Given the description of an element on the screen output the (x, y) to click on. 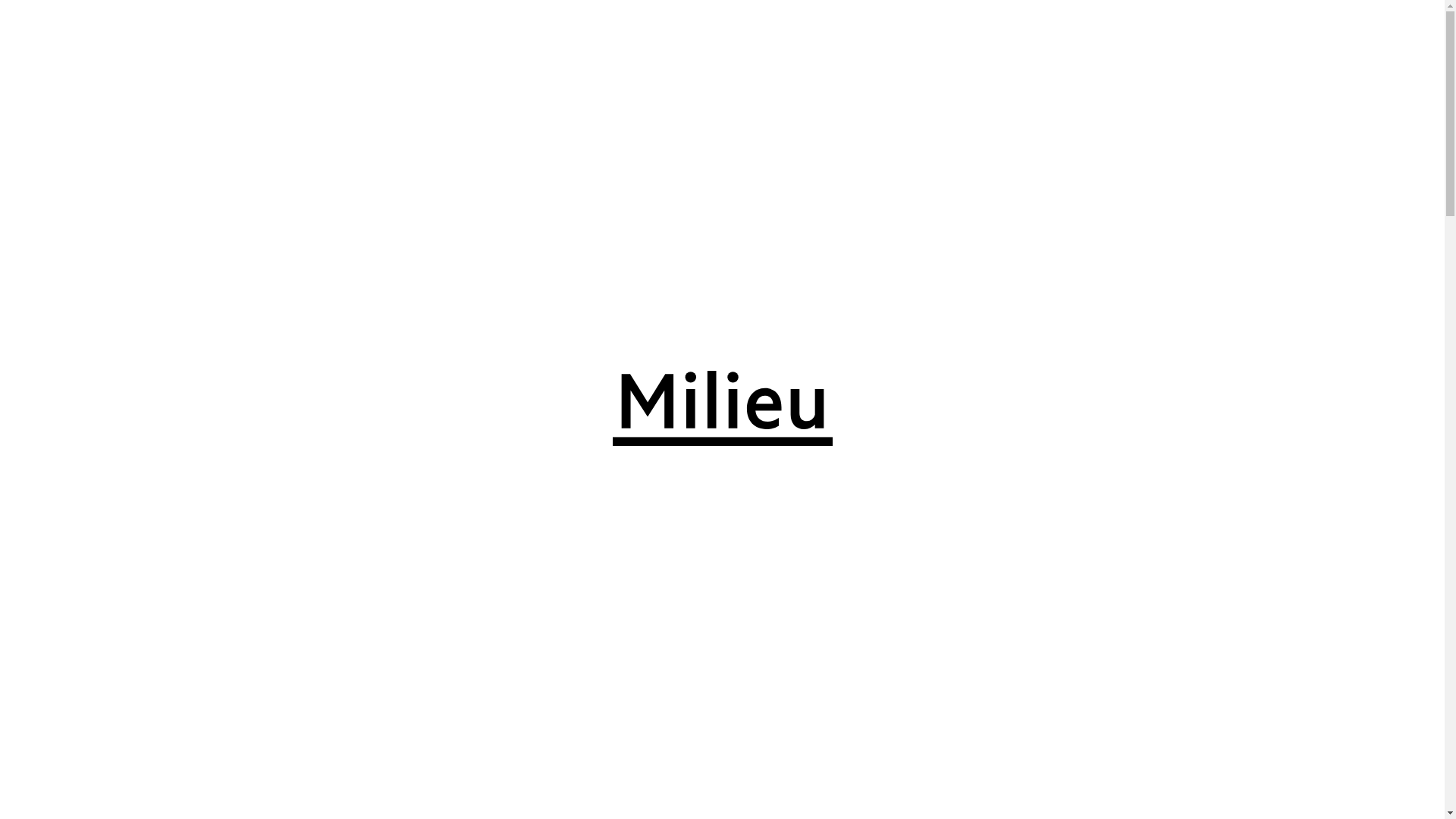
Menu Element type: text (39, 29)
Spaces Element type: text (86, 29)
